Given the description of an element on the screen output the (x, y) to click on. 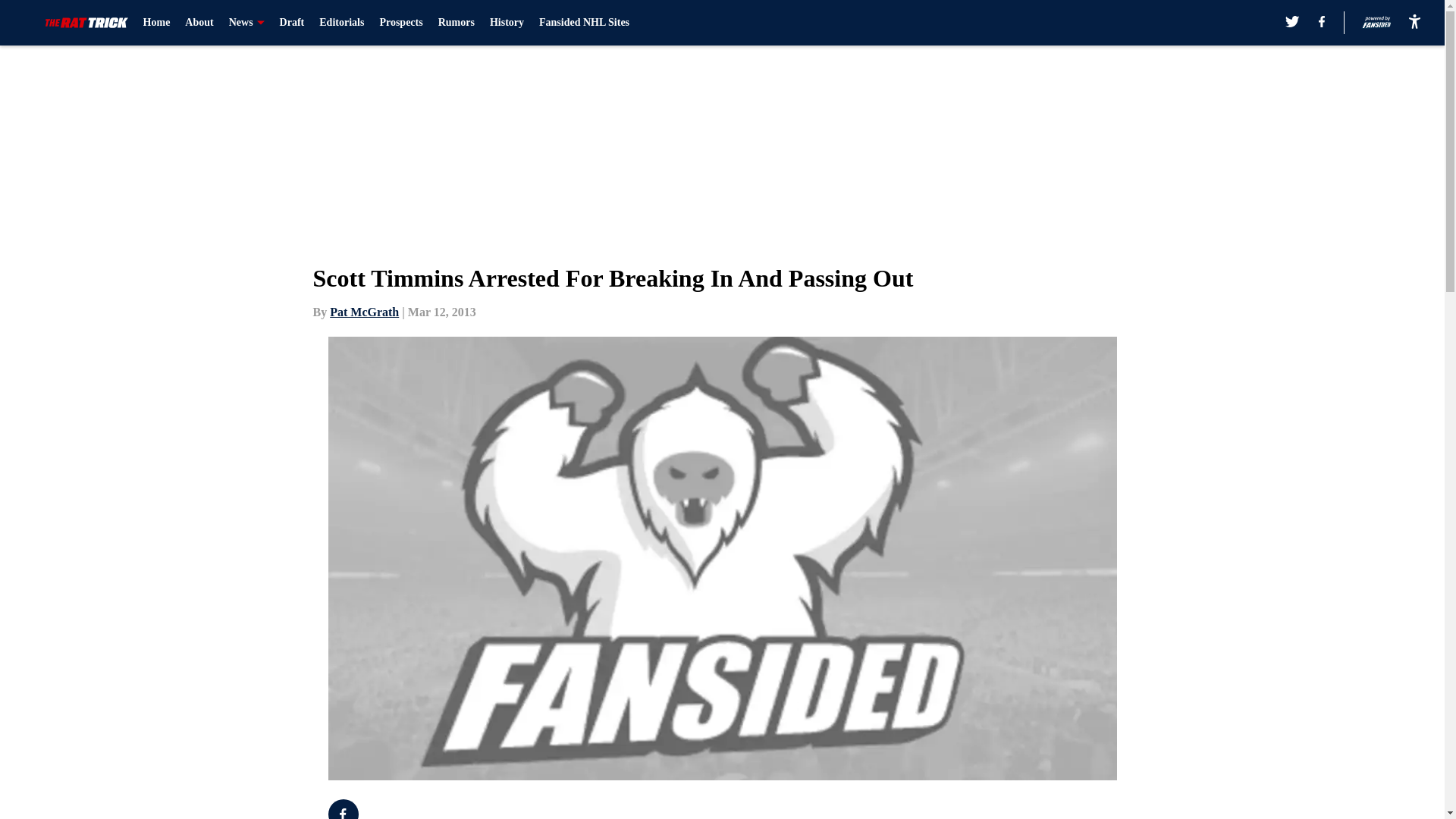
Home (156, 22)
Rumors (456, 22)
Fansided NHL Sites (583, 22)
Draft (291, 22)
History (506, 22)
Prospects (400, 22)
Pat McGrath (364, 311)
Editorials (341, 22)
3rd party ad content (1047, 809)
About (198, 22)
